Given the description of an element on the screen output the (x, y) to click on. 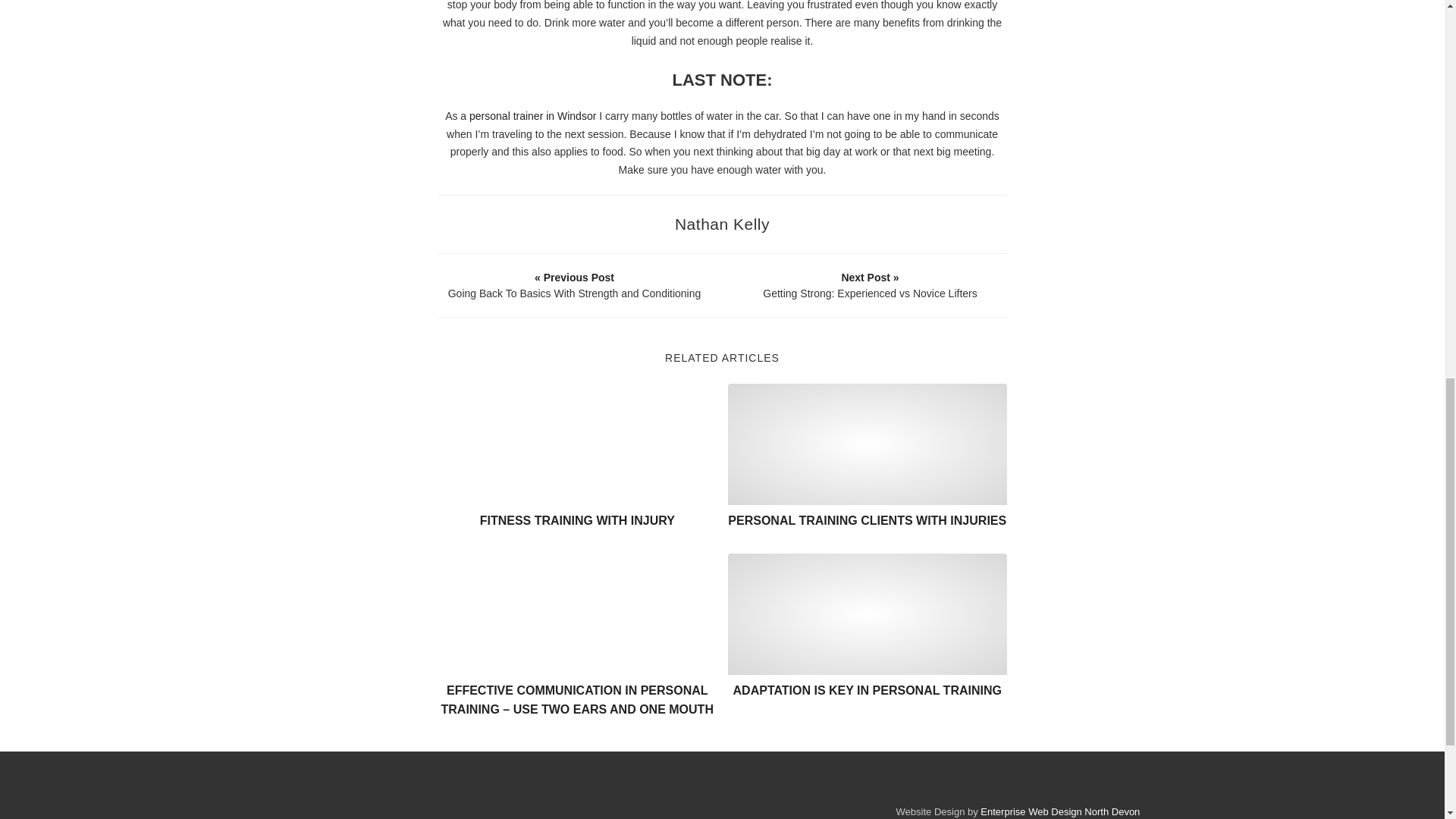
Going Back To Basics With Strength and Conditioning (574, 285)
Adaptation is key in personal training (867, 613)
ADAPTATION IS KEY IN PERSONAL TRAINING (867, 689)
Personal training clients with Injuries (867, 444)
Fitness Training with Injury (577, 444)
FITNESS TRAINING WITH INJURY (577, 520)
Nathan Kelly (722, 223)
Getting Strong: Experienced vs Novice Lifters (869, 285)
personal trainer in Windsor (531, 115)
PERSONAL TRAINING CLIENTS WITH INJURIES (867, 520)
Enterprise Web Design North Devon (1059, 811)
